Given the description of an element on the screen output the (x, y) to click on. 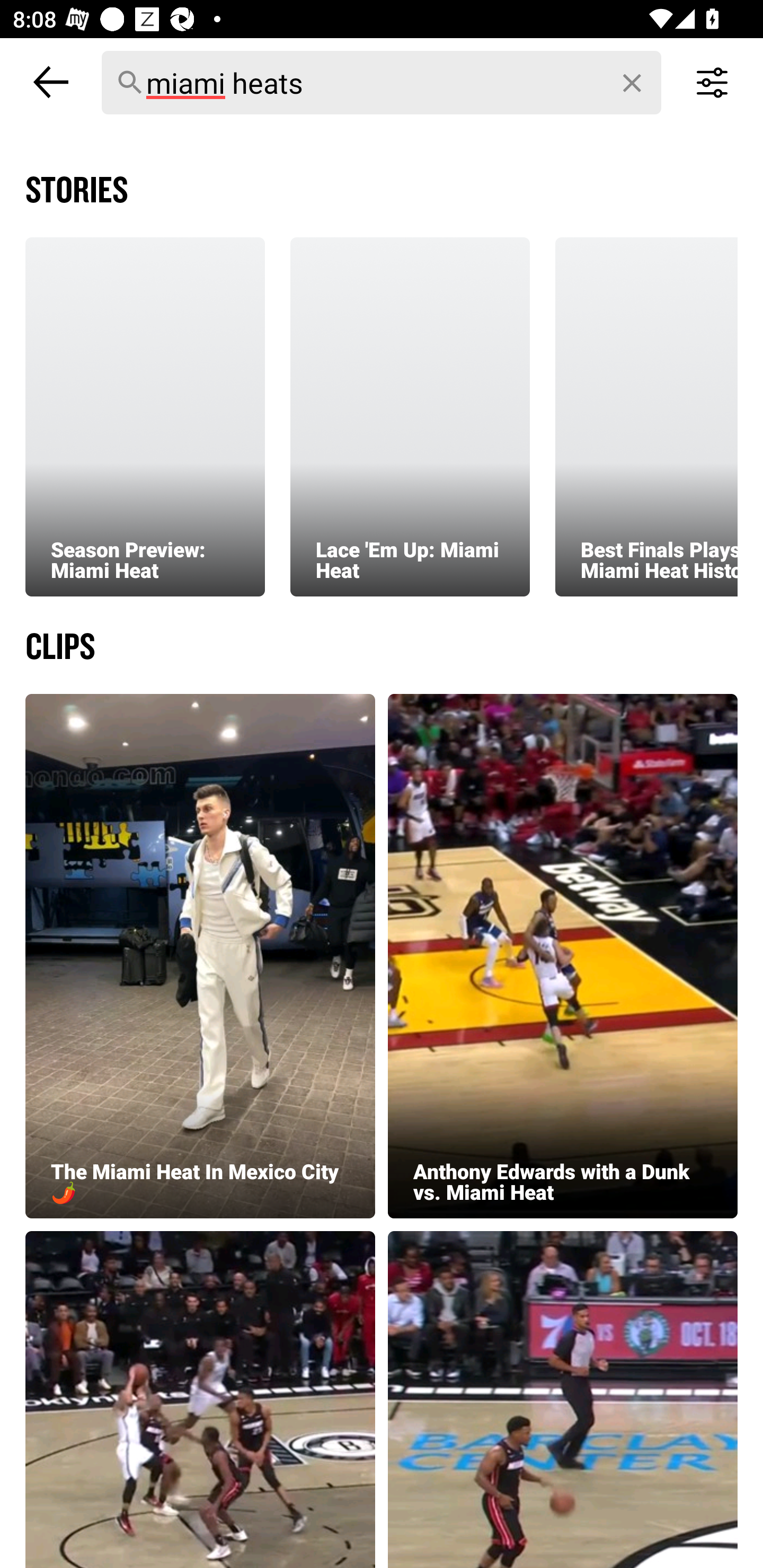
close (50, 81)
Search Filters (711, 81)
search miami heats clear (381, 82)
miami heats (381, 82)
clear (632, 82)
Season Preview: Miami Heat (144, 415)
Lace 'Em Up: Miami Heat (409, 415)
Best Finals Plays In Miami Heat History (646, 415)
The Miami Heat In Mexico City🌶️ (200, 956)
Anthony Edwards with a Dunk vs. Miami Heat (562, 956)
